Given the description of an element on the screen output the (x, y) to click on. 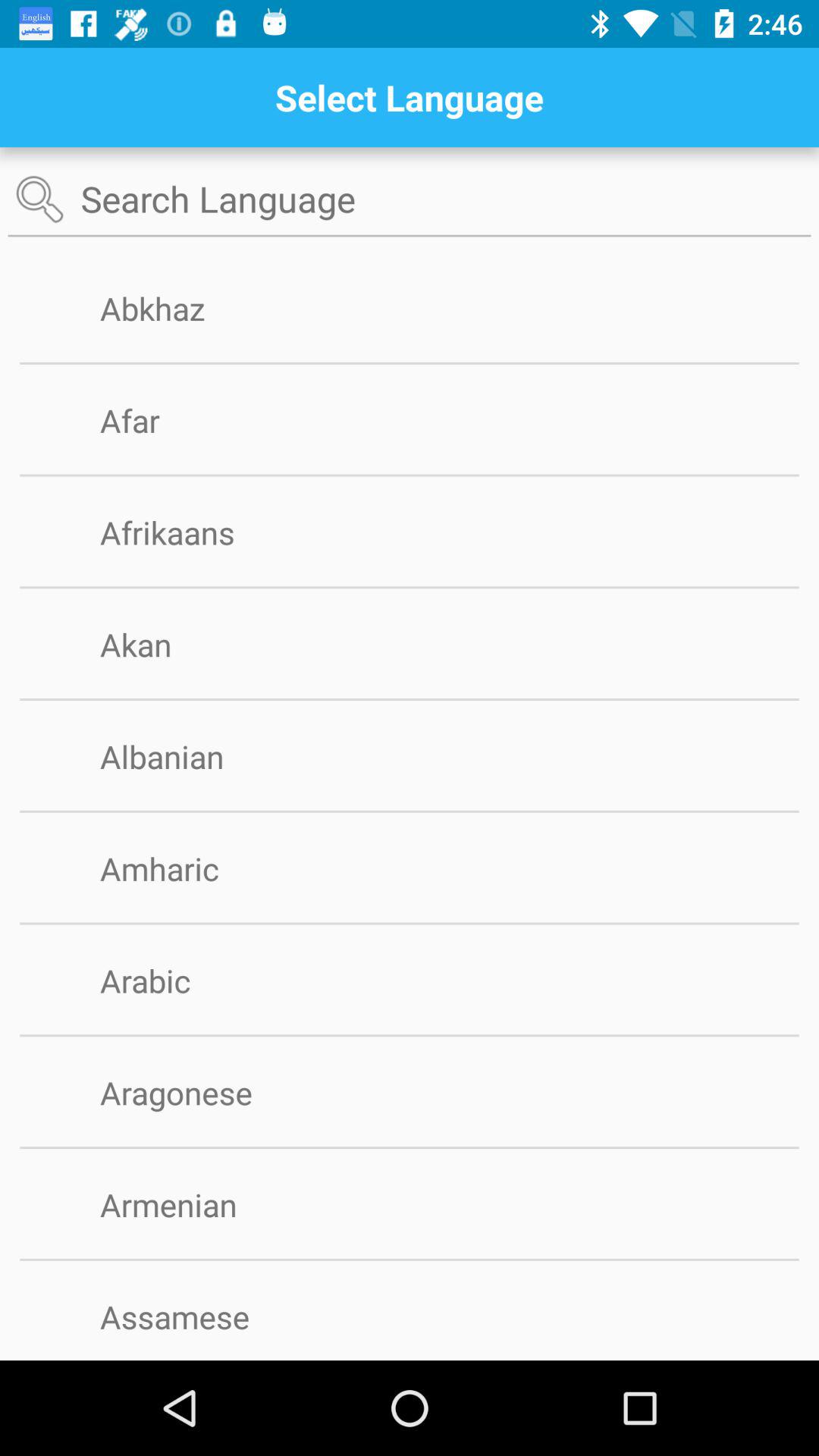
open the item above aragonese icon (409, 1035)
